Given the description of an element on the screen output the (x, y) to click on. 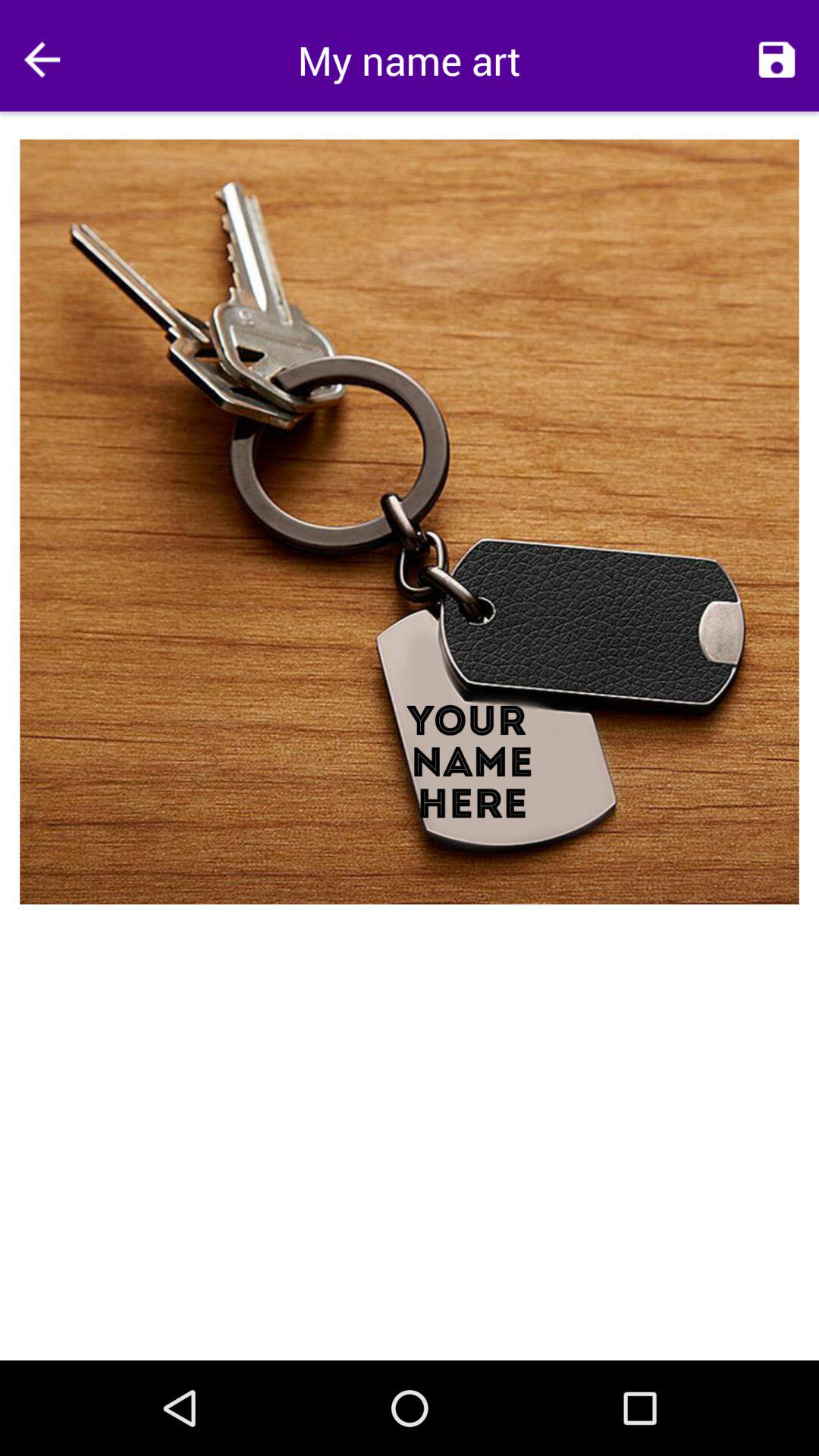
turn on icon to the right of the my name art icon (776, 59)
